Given the description of an element on the screen output the (x, y) to click on. 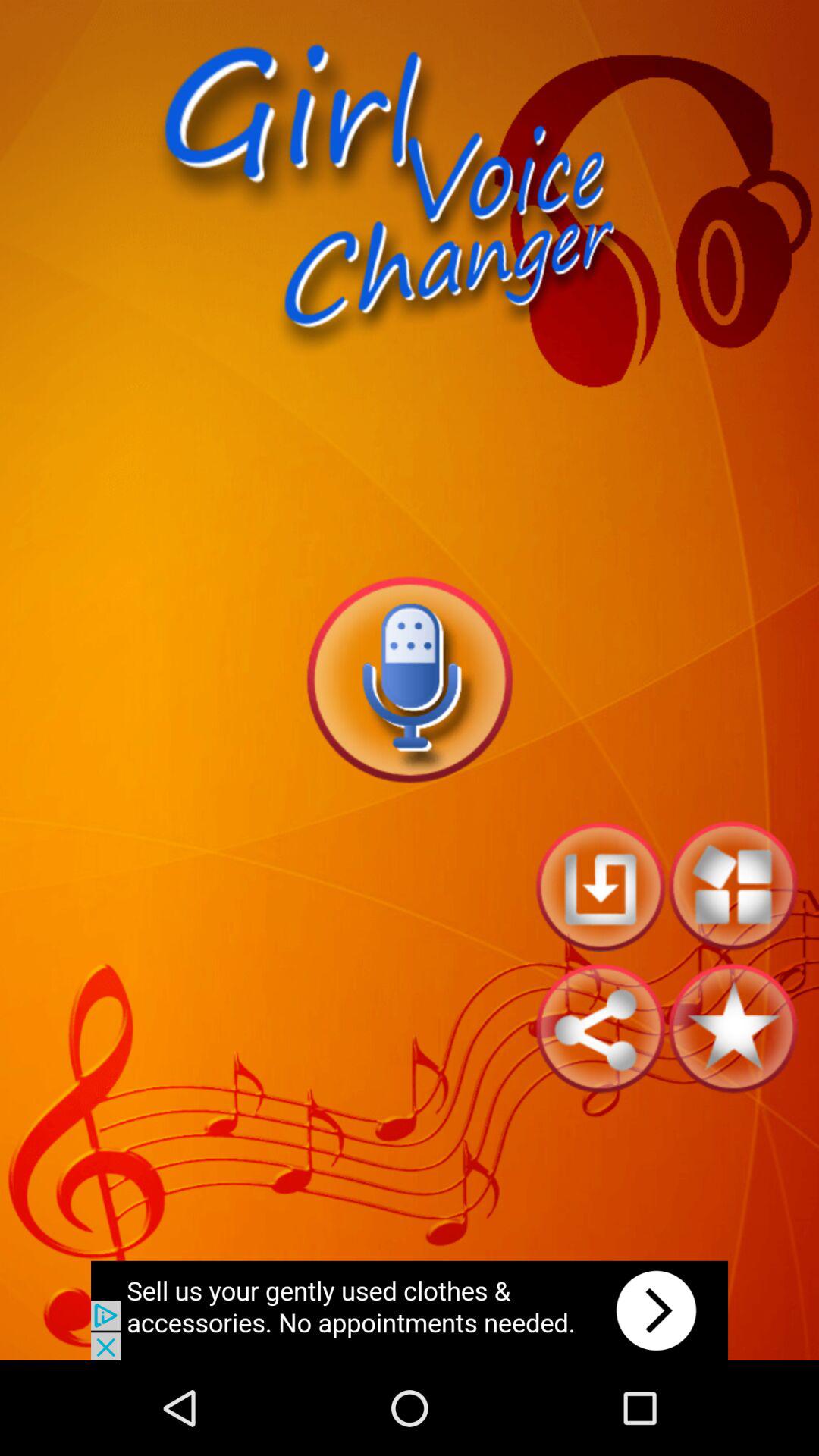
go to next (409, 1310)
